Given the description of an element on the screen output the (x, y) to click on. 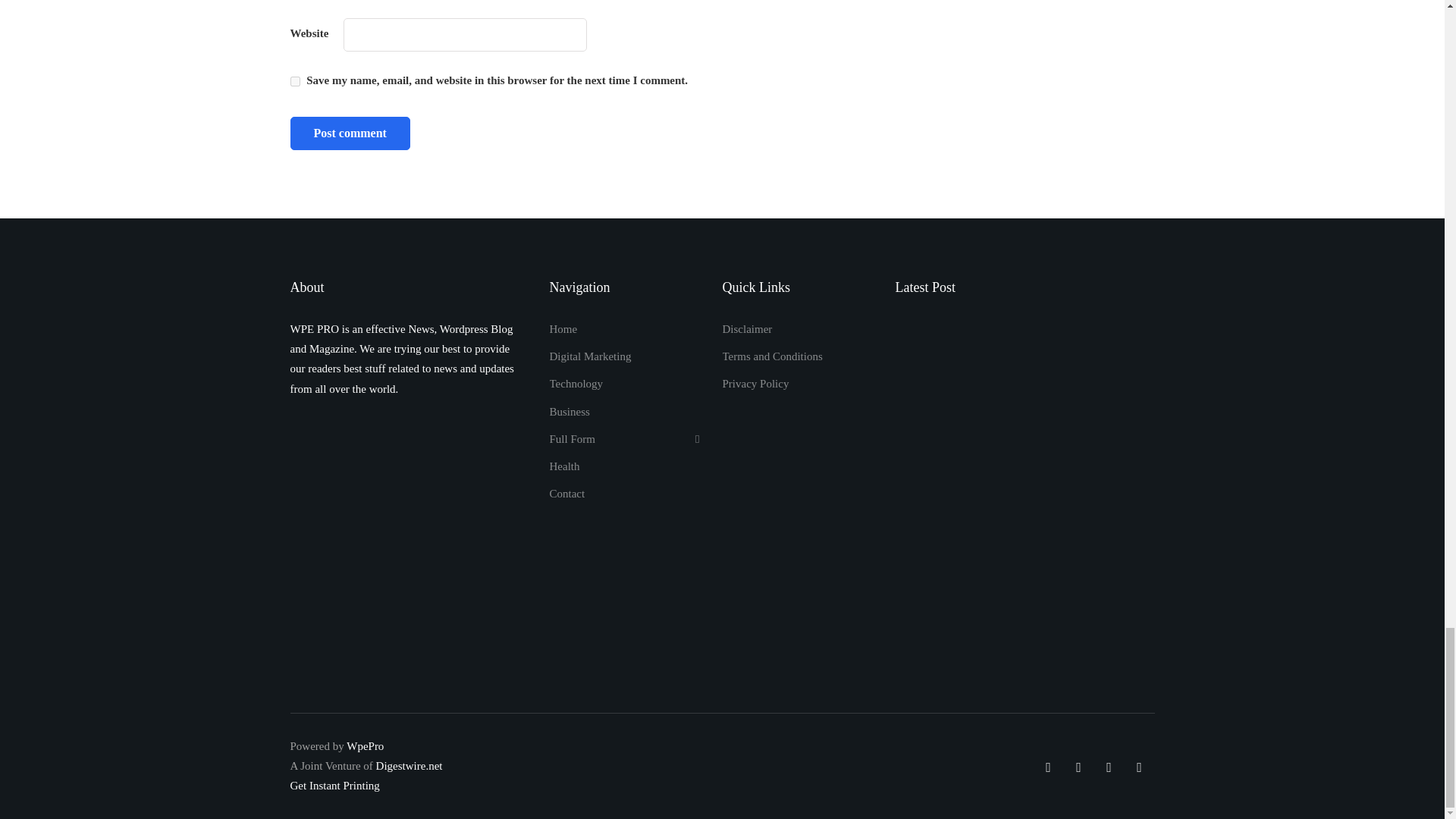
Post comment (349, 133)
yes (294, 81)
